Given the description of an element on the screen output the (x, y) to click on. 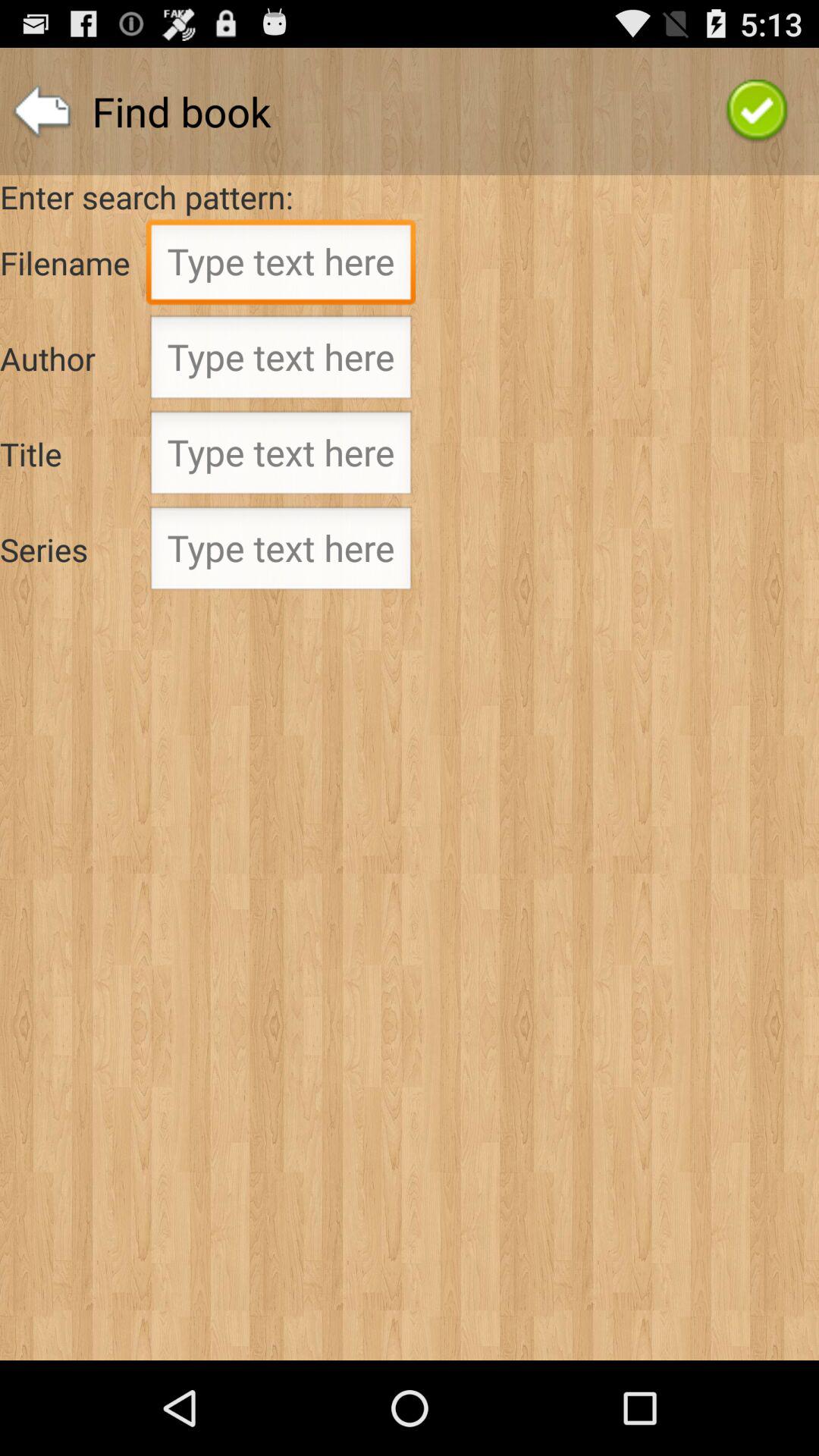
enter title of book (280, 457)
